Given the description of an element on the screen output the (x, y) to click on. 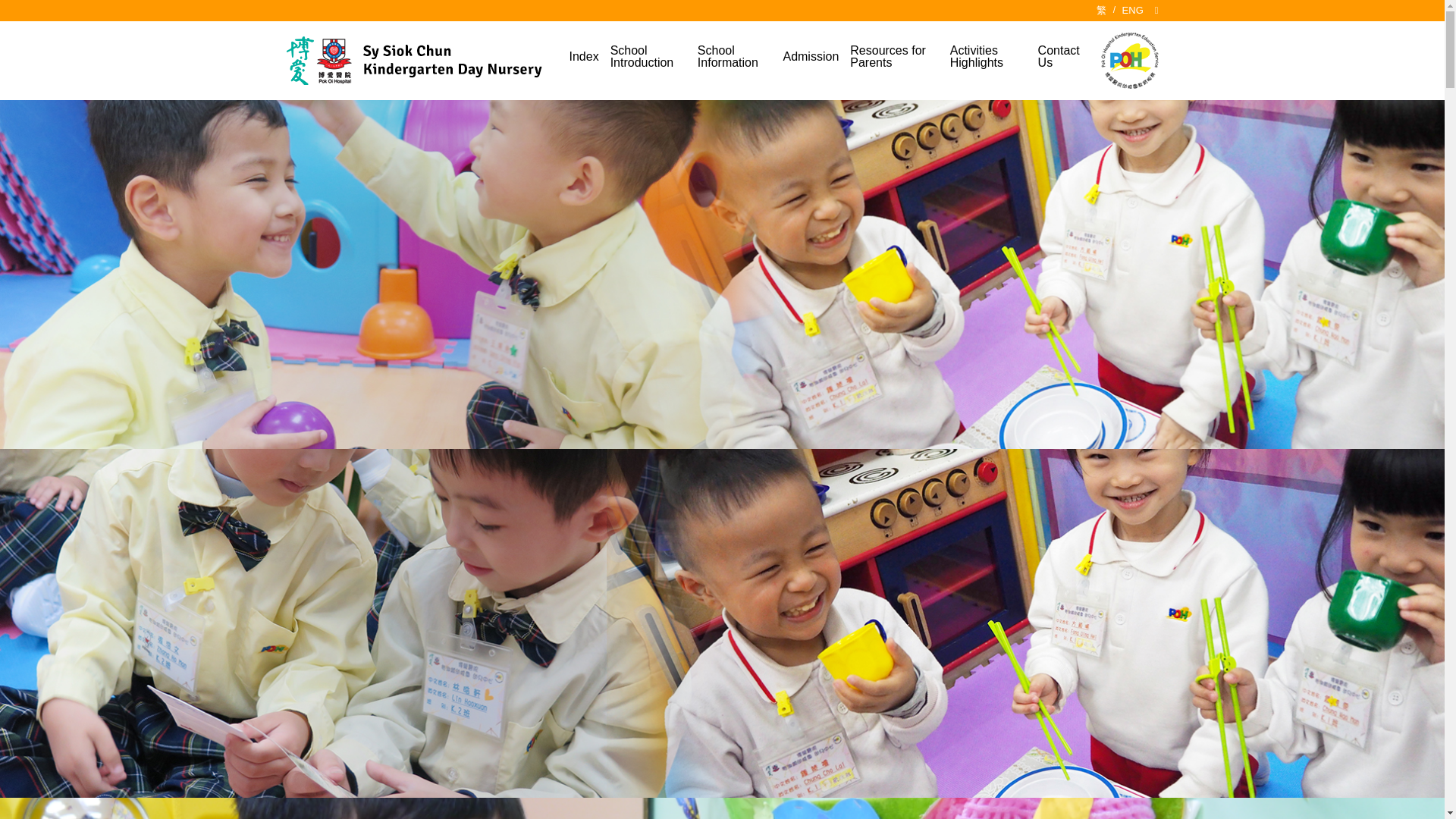
Contact Us (1059, 60)
Index (583, 60)
Admission (810, 60)
Resources for Parents (893, 60)
School Information (734, 60)
School Introduction (647, 60)
Activities Highlights (988, 60)
ENG (1132, 10)
